Given the description of an element on the screen output the (x, y) to click on. 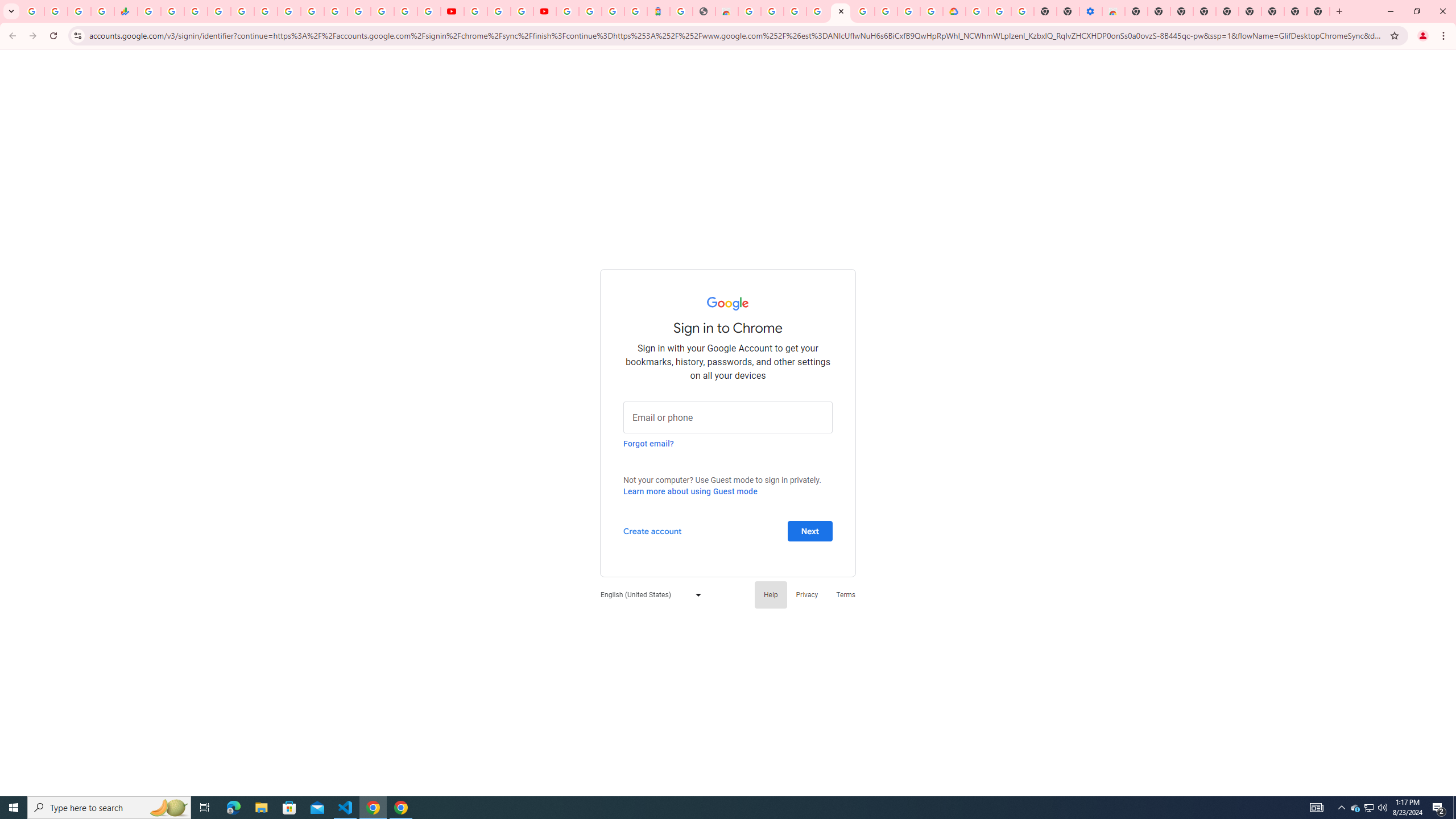
Google Account Help (498, 11)
Forgot email? (648, 443)
Next (809, 530)
Sign in - Google Accounts (840, 11)
Learn more about using Guest mode (689, 491)
Browse the Google Chrome Community - Google Chrome Community (931, 11)
YouTube (451, 11)
Google Account Help (863, 11)
